Given the description of an element on the screen output the (x, y) to click on. 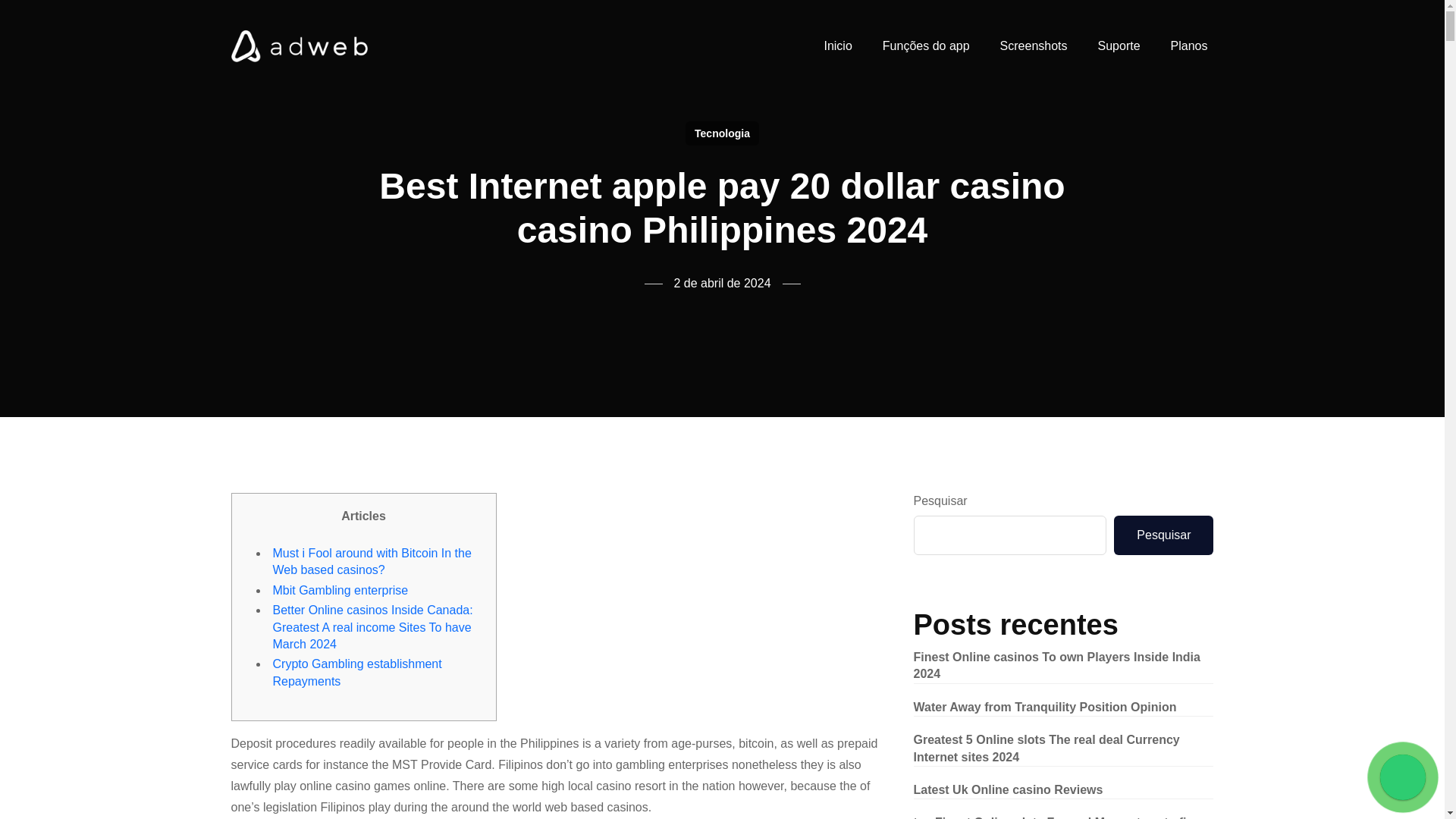
Finest Online casinos To own Players Inside India 2024 (1055, 665)
Latest Uk Online casino Reviews (1007, 789)
Mbit Gambling enterprise (341, 590)
Planos (1189, 45)
Suporte (1119, 45)
Pesquisar (1162, 535)
Crypto Gambling establishment Repayments (357, 672)
Water Away from Tranquility Position Opinion (1044, 707)
Must i Fool around with Bitcoin In the Web based casinos? (372, 561)
